Given the description of an element on the screen output the (x, y) to click on. 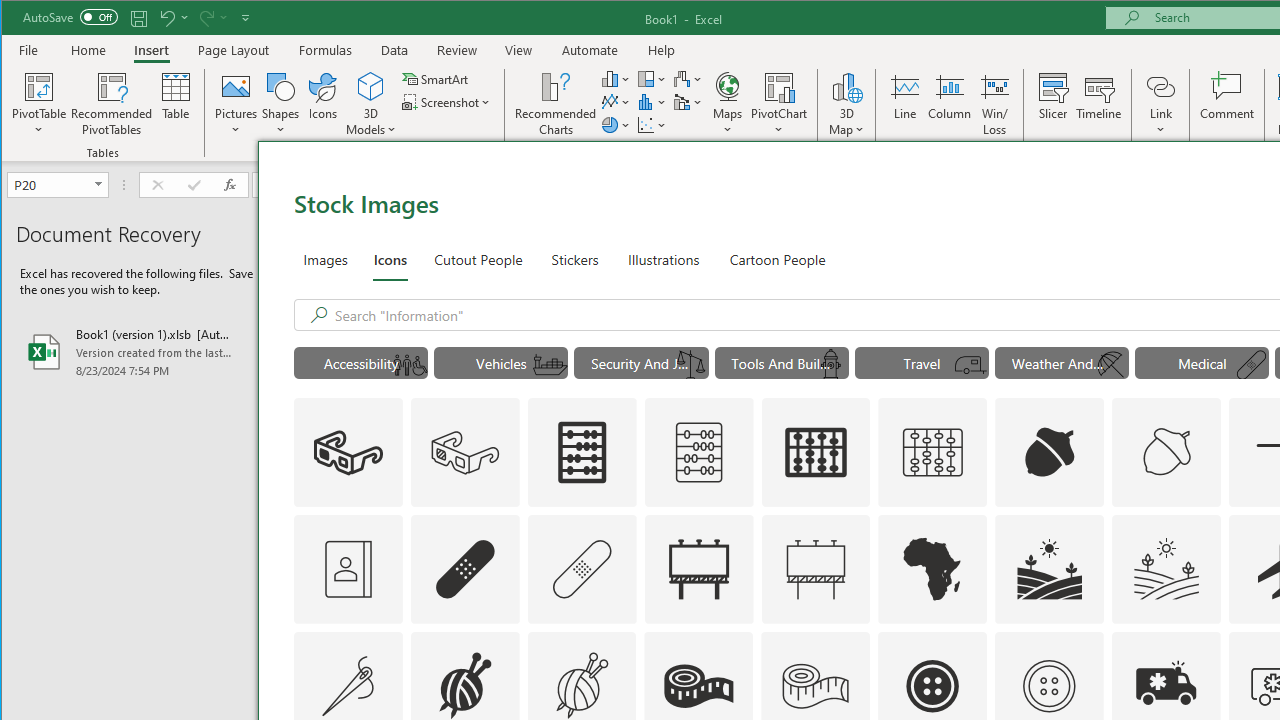
Comment (1227, 104)
"Accessibility" Icons. (360, 362)
3D Map (846, 104)
AutomationID: Icons_Agriculture (1049, 568)
Line (904, 104)
"Medical" Icons. (1201, 362)
AutomationID: Icons (1049, 686)
Timeline (1098, 104)
AutomationID: Icons_WeightsUneven1_M (691, 365)
AutomationID: Icons_Advertising_M (815, 568)
